Given the description of an element on the screen output the (x, y) to click on. 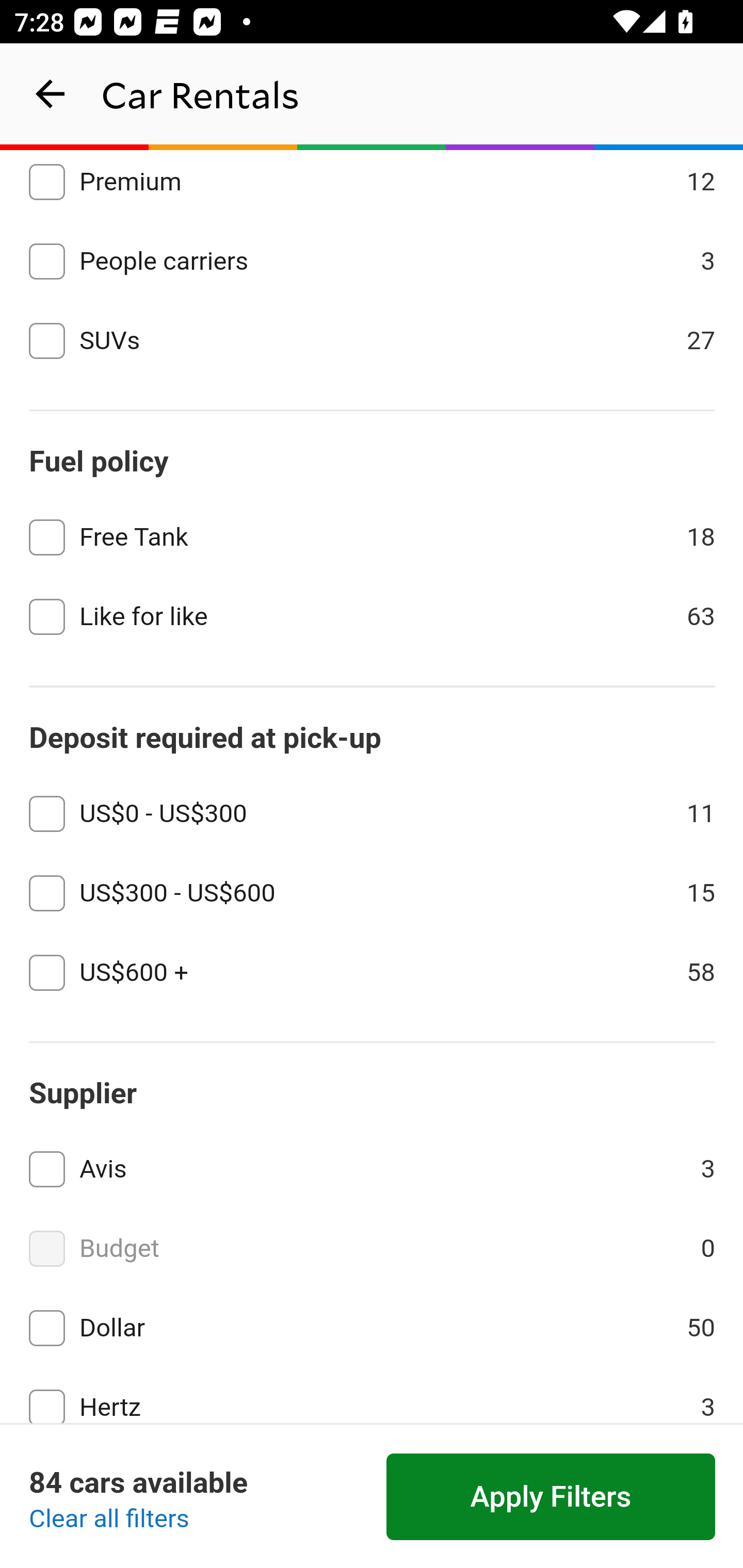
navigation_button (50, 93)
Apply Filters (551, 1497)
Clear all filters (108, 1519)
